Given the description of an element on the screen output the (x, y) to click on. 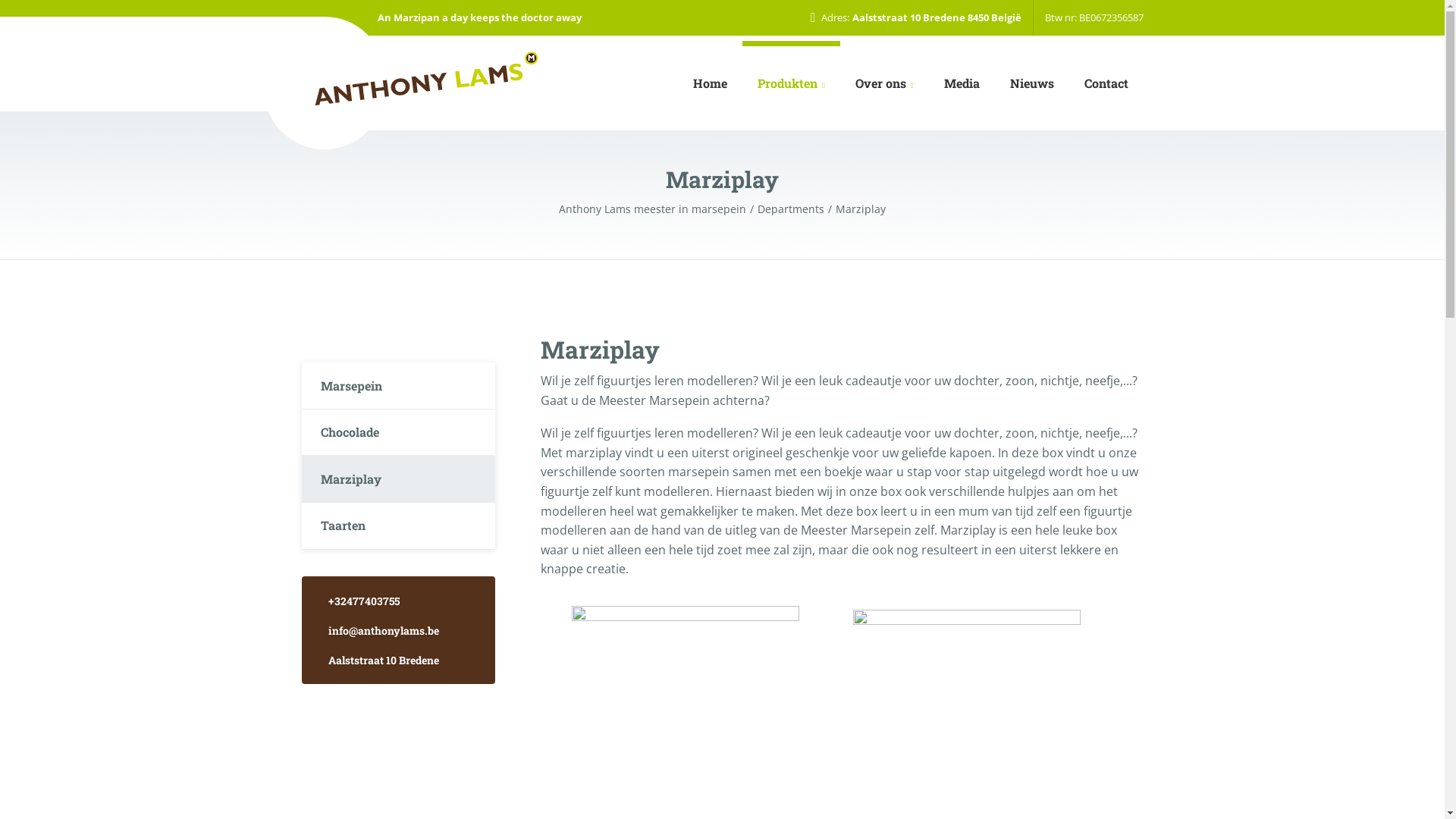
Taarten Element type: text (398, 525)
Over ons Element type: text (884, 82)
Marziplay Element type: text (398, 478)
Departments Element type: text (796, 208)
Contact Element type: text (1106, 82)
Anthony Lams meester in marsepein Element type: text (657, 208)
Nieuws Element type: text (1031, 82)
Marziplay Element type: text (860, 208)
Chocolade Element type: text (398, 432)
+32477403755 Element type: text (397, 601)
Home Element type: text (709, 82)
Marsepein Element type: text (398, 385)
Produkten Element type: text (791, 82)
Media Element type: text (961, 82)
